Given the description of an element on the screen output the (x, y) to click on. 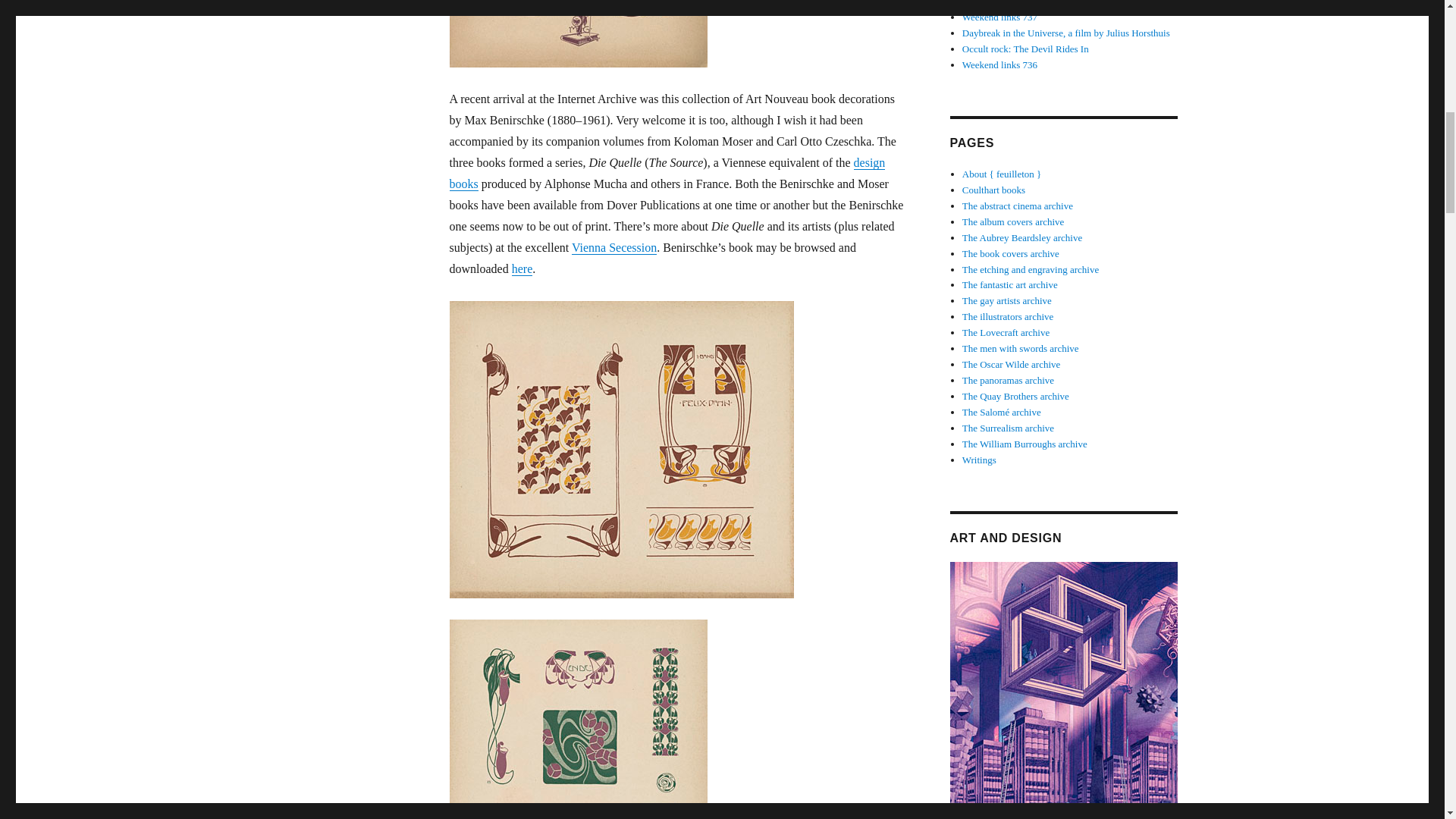
design books (666, 173)
Weekend links 736 (999, 64)
Occult rock: The Devil Rides In (1025, 48)
Daybreak in the Universe, a film by Julius Horsthuis (1066, 32)
here (522, 268)
Weekend links 737 (999, 16)
An Anthology of Asemic Handwriting (1037, 3)
Vienna Secession (614, 246)
Coulthart books (993, 189)
